Given the description of an element on the screen output the (x, y) to click on. 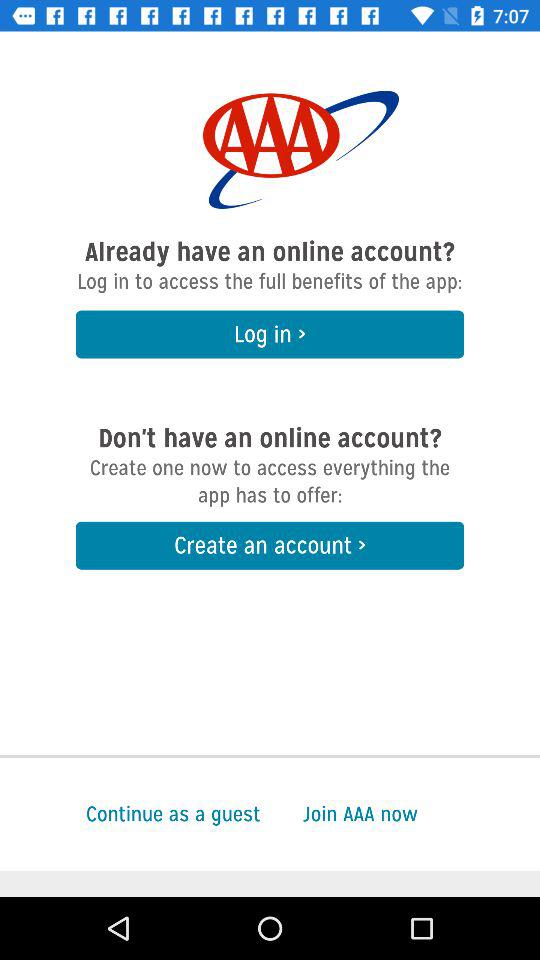
launch continue as a (130, 814)
